Given the description of an element on the screen output the (x, y) to click on. 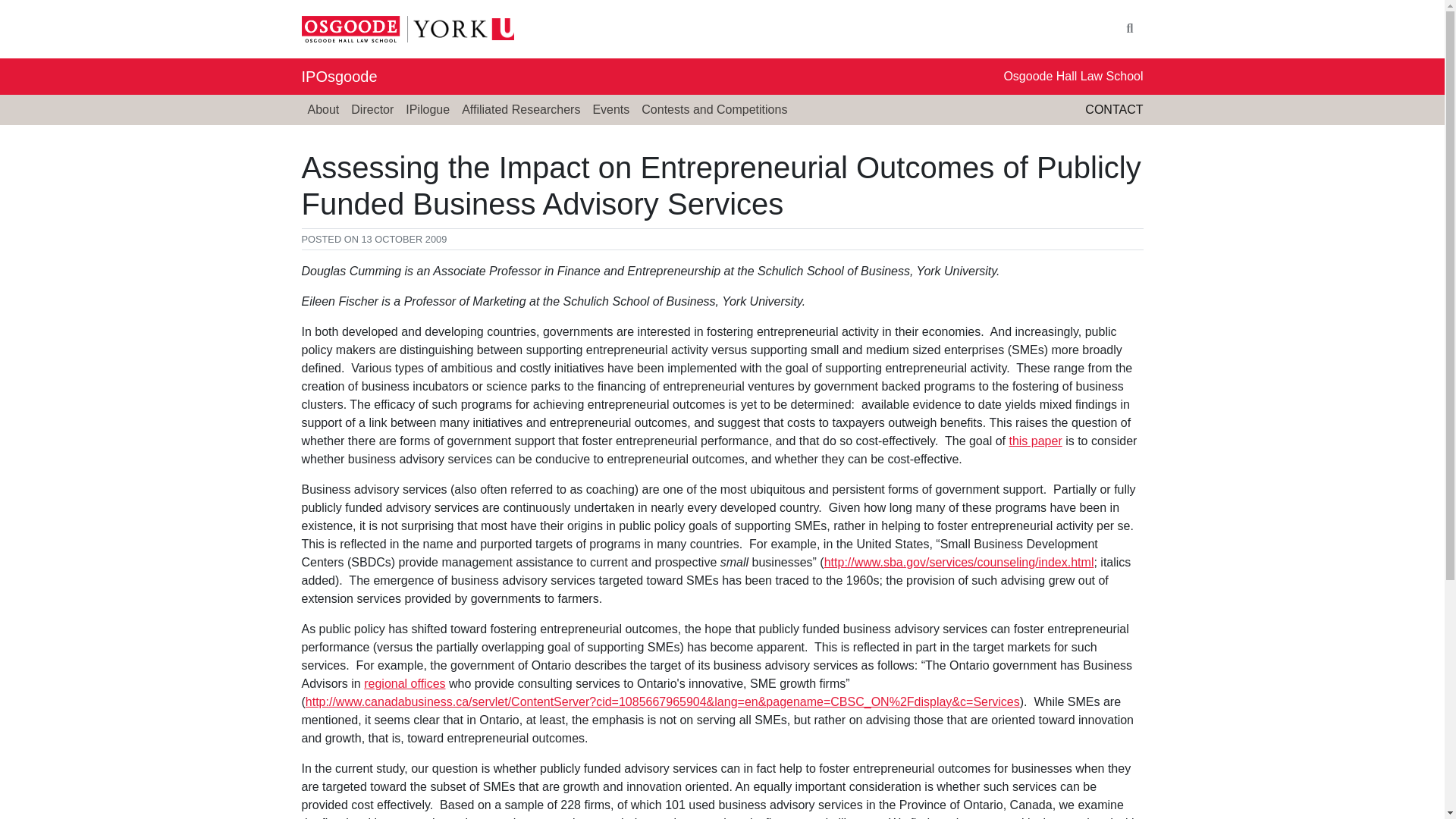
Director (371, 110)
CONTACT (1113, 109)
this paper (1035, 440)
IPilogue (426, 110)
IPOsgoode (339, 76)
regional offices (404, 683)
Osgoode Hall Law School (1072, 75)
Search (1129, 28)
Contests and Competitions (713, 110)
Affiliated Researchers (520, 110)
Events (610, 110)
About (323, 110)
